Given the description of an element on the screen output the (x, y) to click on. 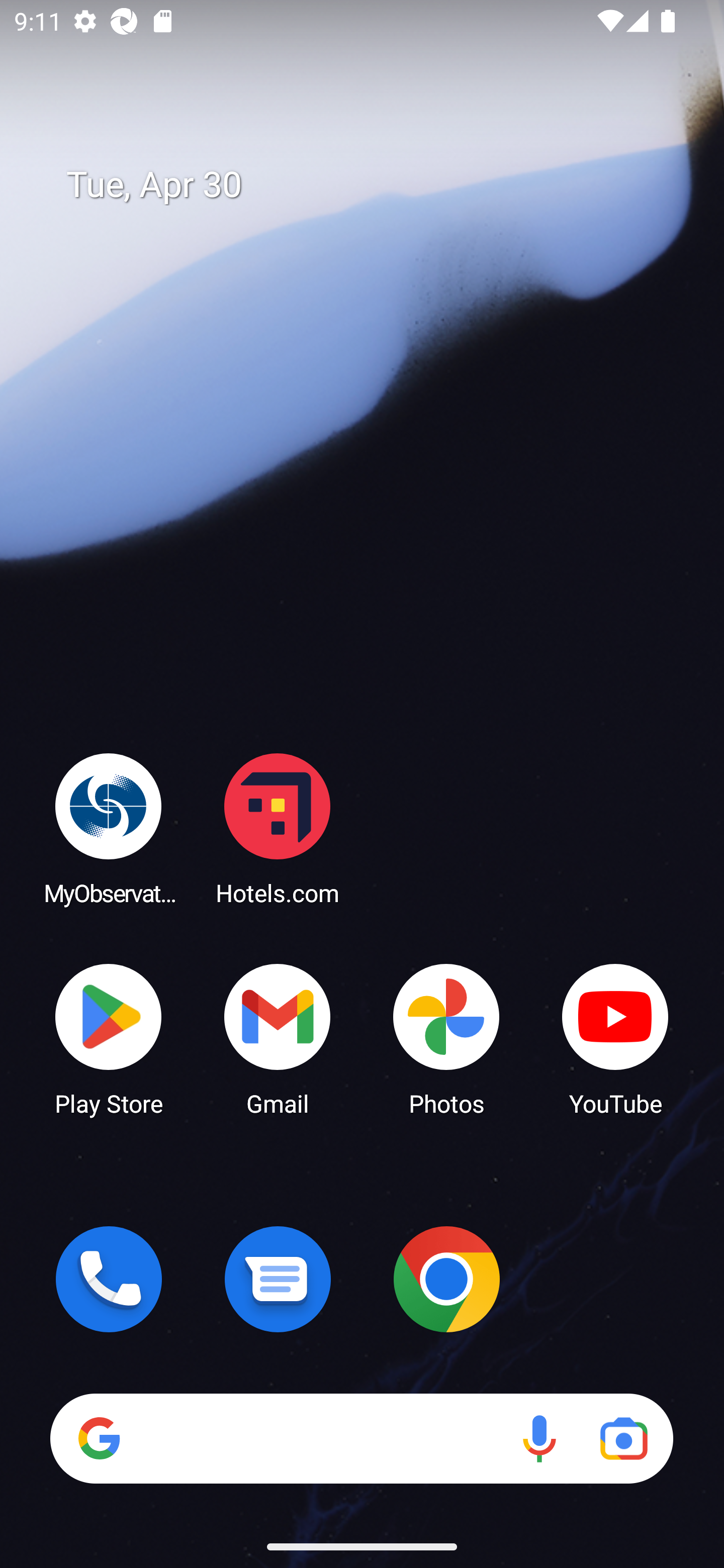
Tue, Apr 30 (375, 184)
MyObservatory (108, 828)
Hotels.com (277, 828)
Play Store (108, 1038)
Gmail (277, 1038)
Photos (445, 1038)
YouTube (615, 1038)
Phone (108, 1279)
Messages (277, 1279)
Chrome (446, 1279)
Voice search (539, 1438)
Google Lens (623, 1438)
